Given the description of an element on the screen output the (x, y) to click on. 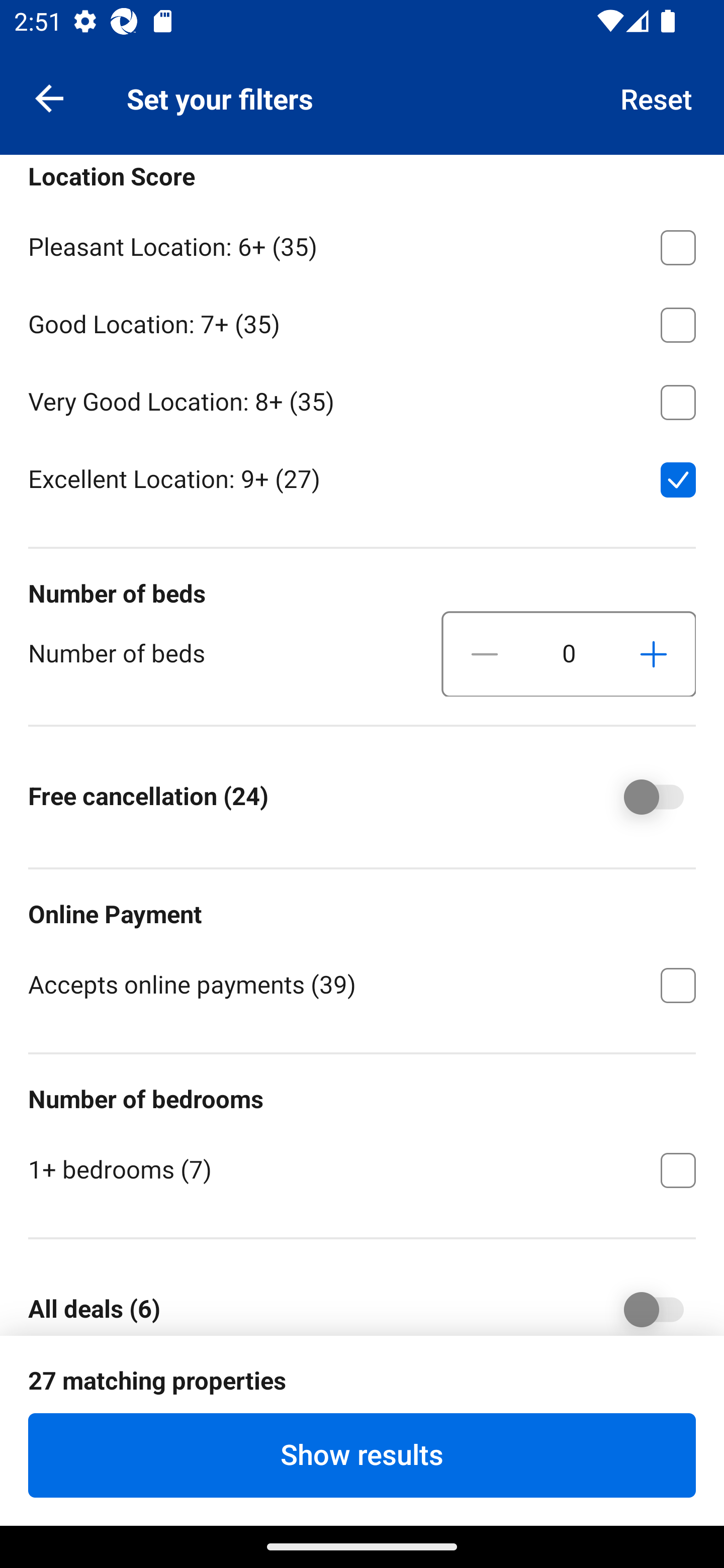
Navigate up (49, 97)
Reset (656, 97)
Pleasant Location: 6+ ⁦(35) (361, 243)
Good Location: 7+ ⁦(35) (361, 321)
Very Good Location: 8+ ⁦(35) (361, 398)
Excellent Location: 9+ ⁦(27) (361, 478)
Decrease (484, 653)
Increase (653, 653)
Free cancellation ⁦(24) (639, 796)
Accepts online payments ⁦(39) (361, 983)
1+ bedrooms ⁦(7) (361, 1168)
All deals ⁦(6) (639, 1300)
Show results (361, 1454)
